Given the description of an element on the screen output the (x, y) to click on. 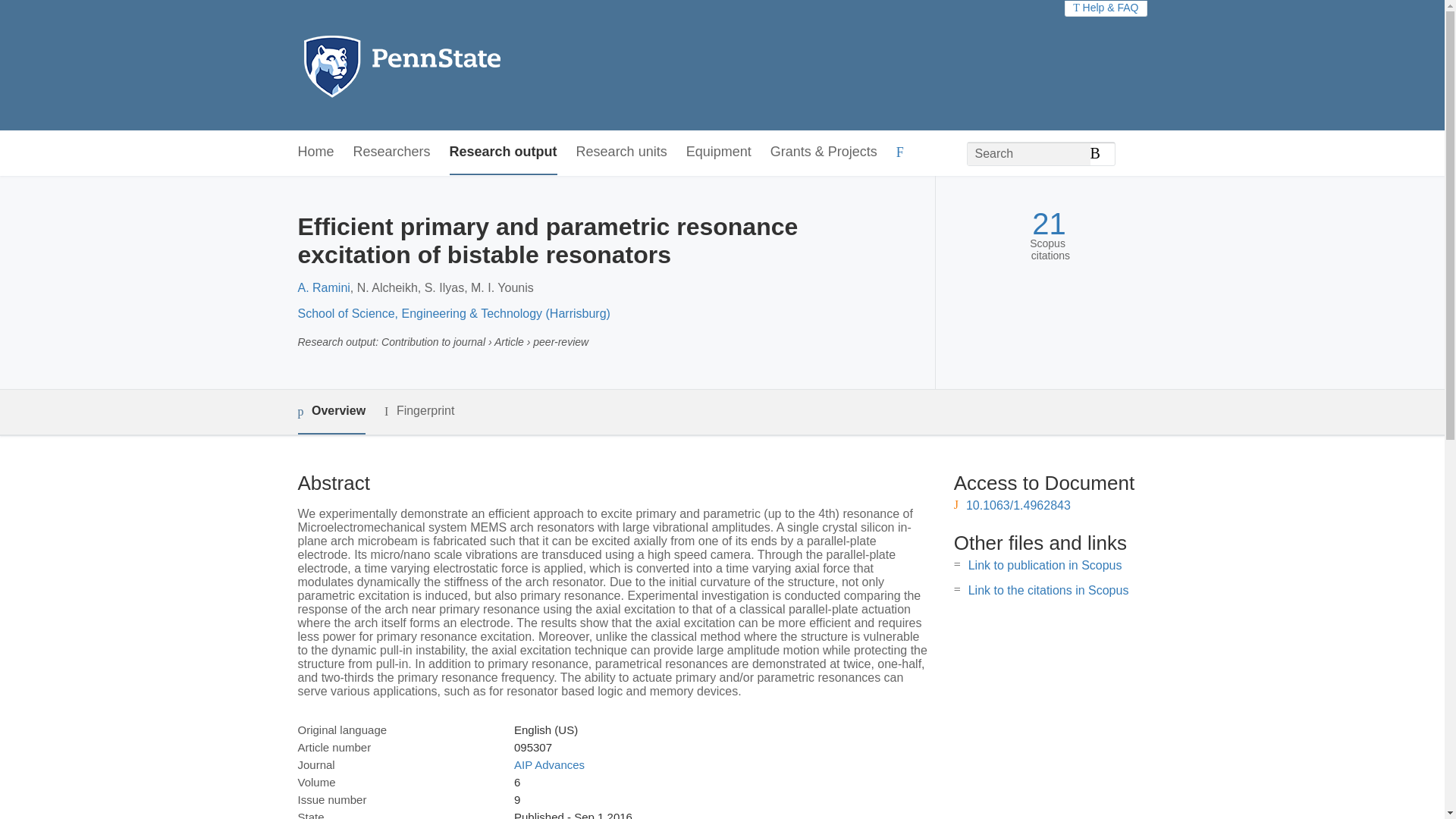
A. Ramini (323, 287)
Link to publication in Scopus (1045, 564)
Equipment (718, 152)
Research output (503, 152)
Fingerprint (419, 411)
21 (1048, 223)
Overview (331, 411)
AIP Advances (549, 764)
Link to the citations in Scopus (1048, 590)
Researchers (391, 152)
